Given the description of an element on the screen output the (x, y) to click on. 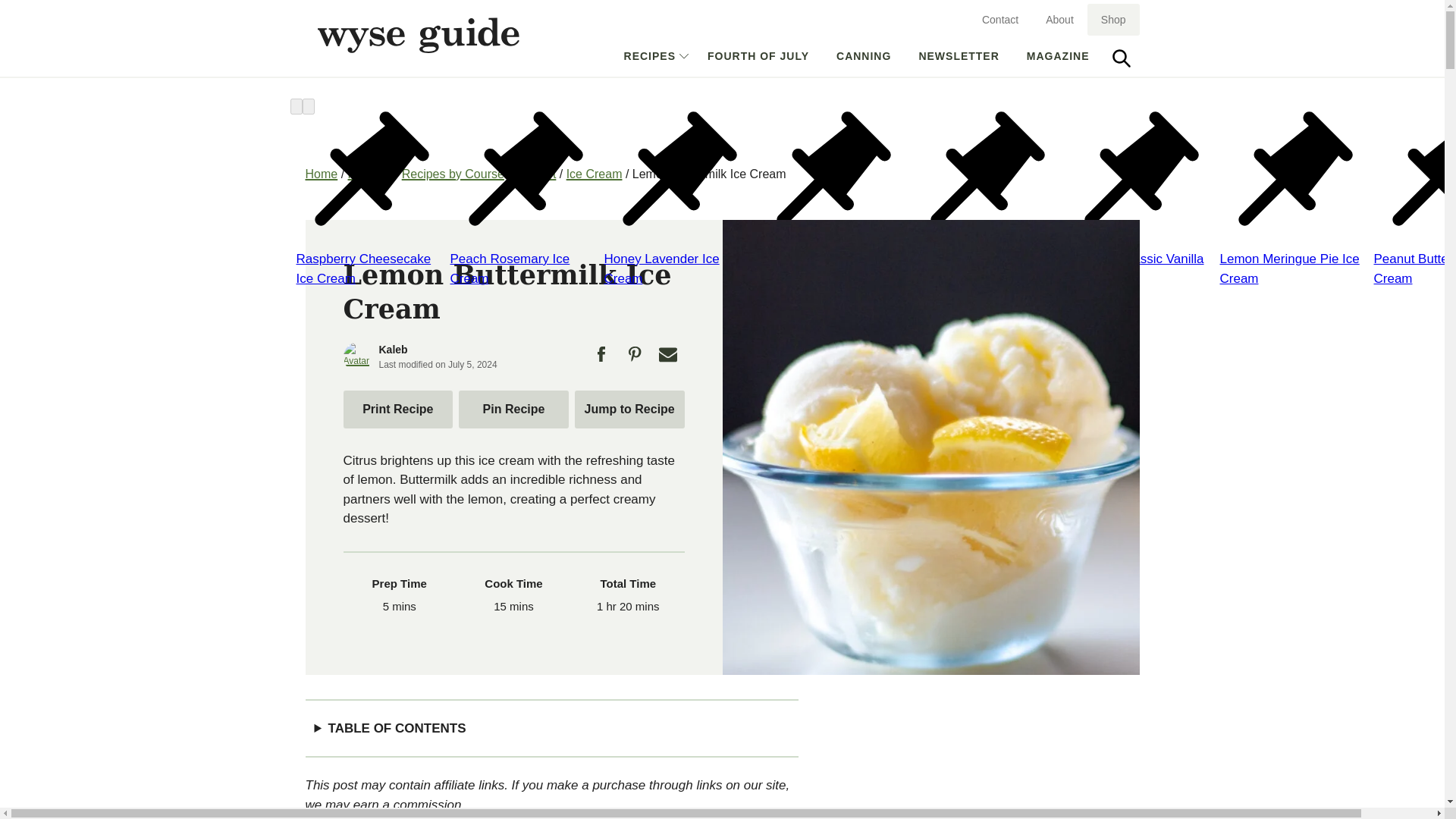
About (1059, 18)
Recipes by Course (452, 173)
Share on Pinterest (633, 358)
Share on Facebook (600, 358)
Ice Cream (594, 173)
Shop (1113, 20)
Share on Pinterest (513, 408)
MAGAZINE (1058, 56)
Contact (397, 408)
FOURTH OF JULY (1000, 18)
Jump to Recipe (758, 56)
Dessert (629, 408)
NEWSLETTER (534, 173)
Pin Recipe (957, 56)
